Given the description of an element on the screen output the (x, y) to click on. 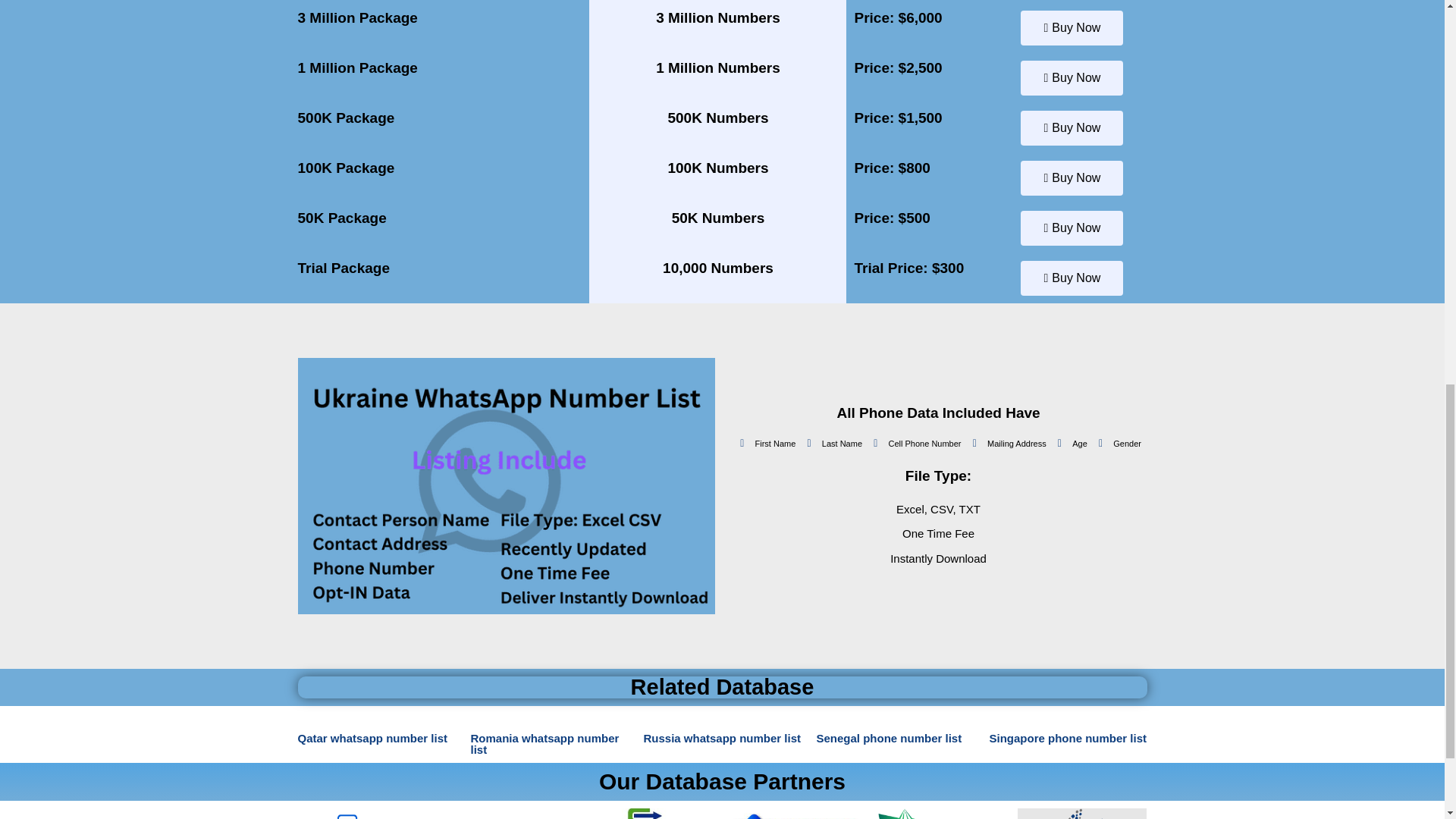
Senegal phone number list (887, 738)
Buy Now (1071, 27)
Singapore phone number list (1067, 738)
Buy Now (1071, 77)
Buy Now (1071, 227)
Qatar whatsapp number list (371, 738)
Russia whatsapp number list (721, 738)
Buy Now (1071, 177)
Buy Now (1071, 127)
Buy Now (1071, 278)
